Given the description of an element on the screen output the (x, y) to click on. 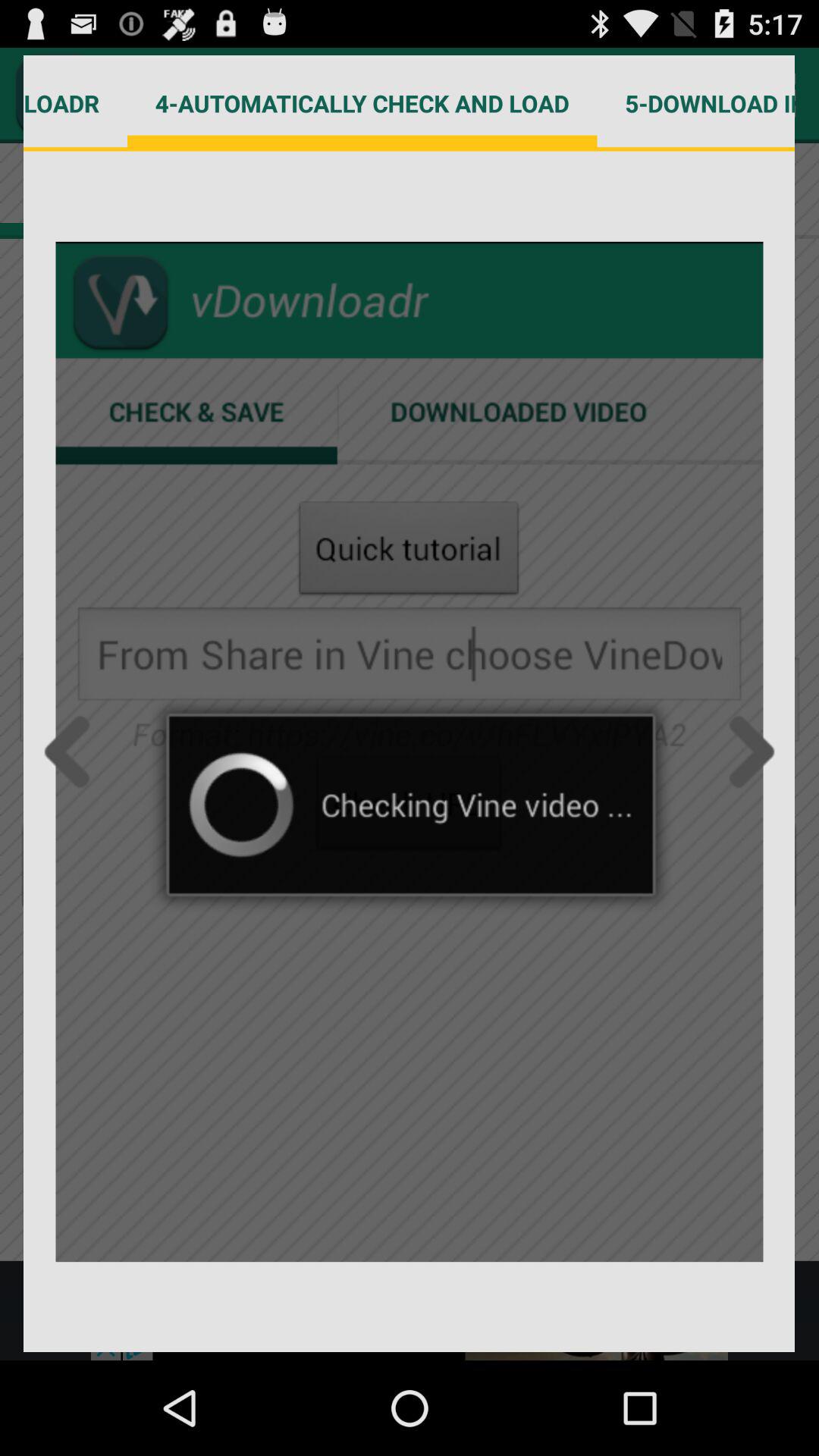
choose app at the top left corner (75, 103)
